Given the description of an element on the screen output the (x, y) to click on. 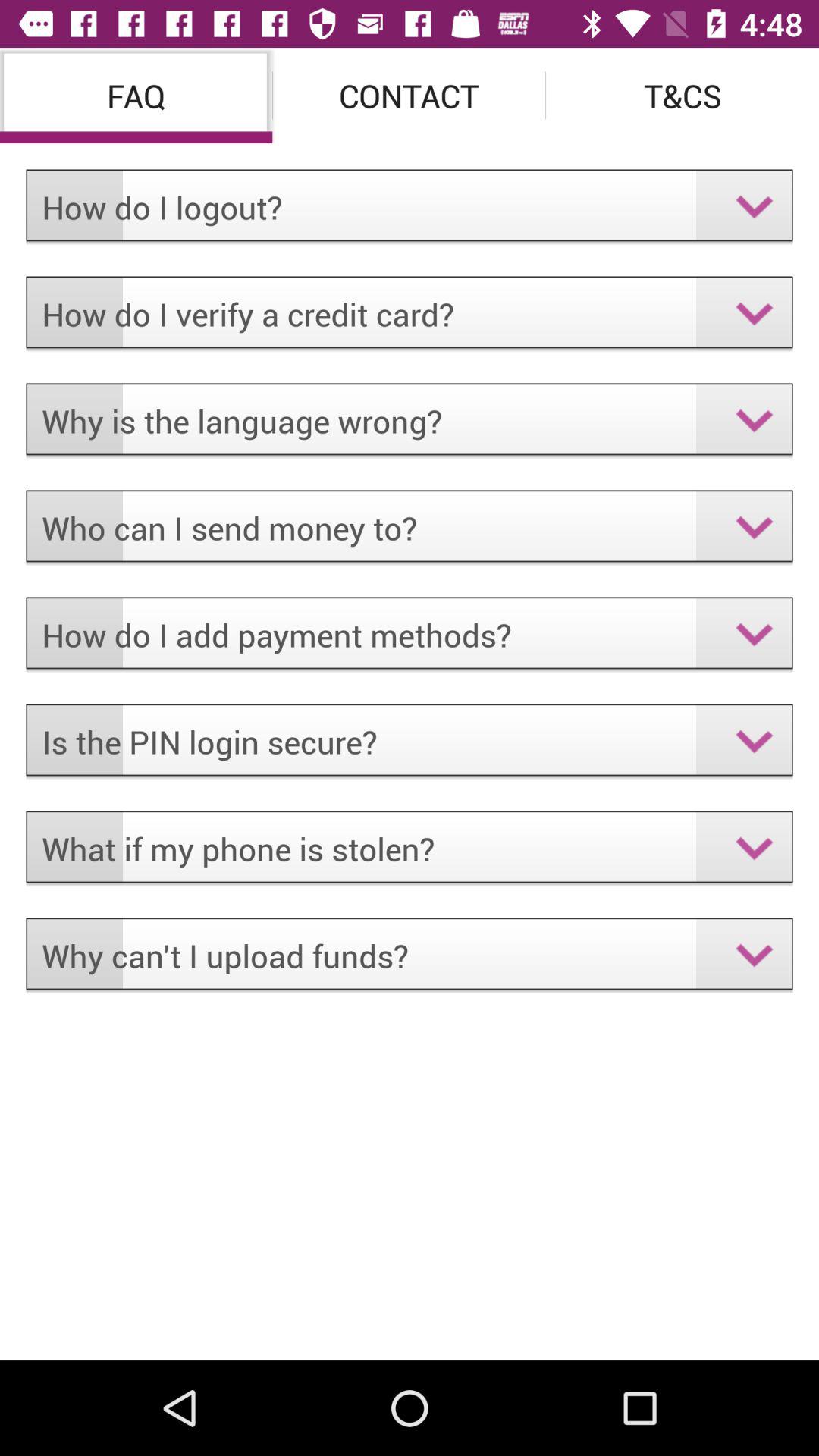
jump until contact (409, 95)
